Given the description of an element on the screen output the (x, y) to click on. 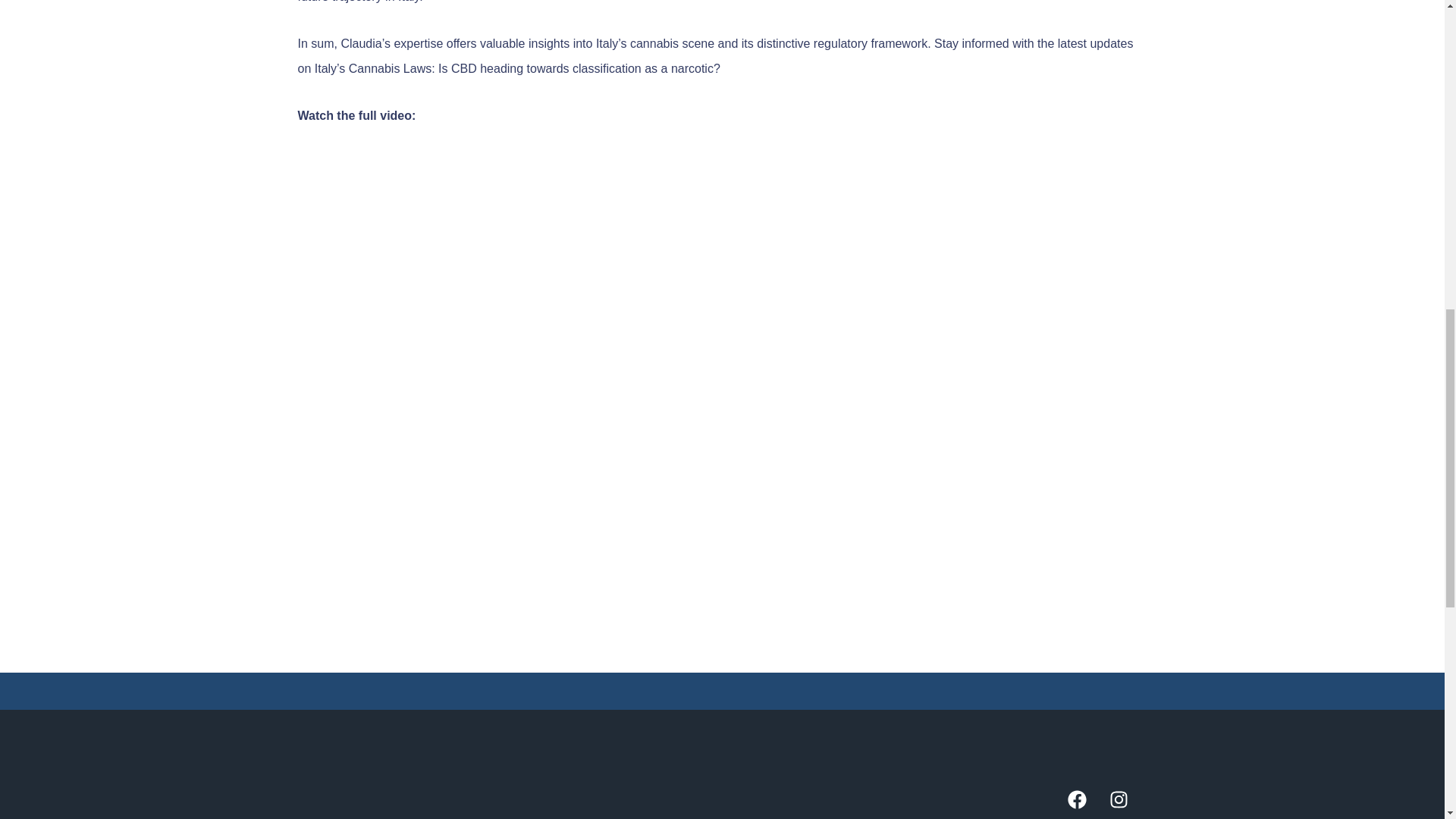
Facebook (1086, 804)
Instagram (1127, 804)
